Given the description of an element on the screen output the (x, y) to click on. 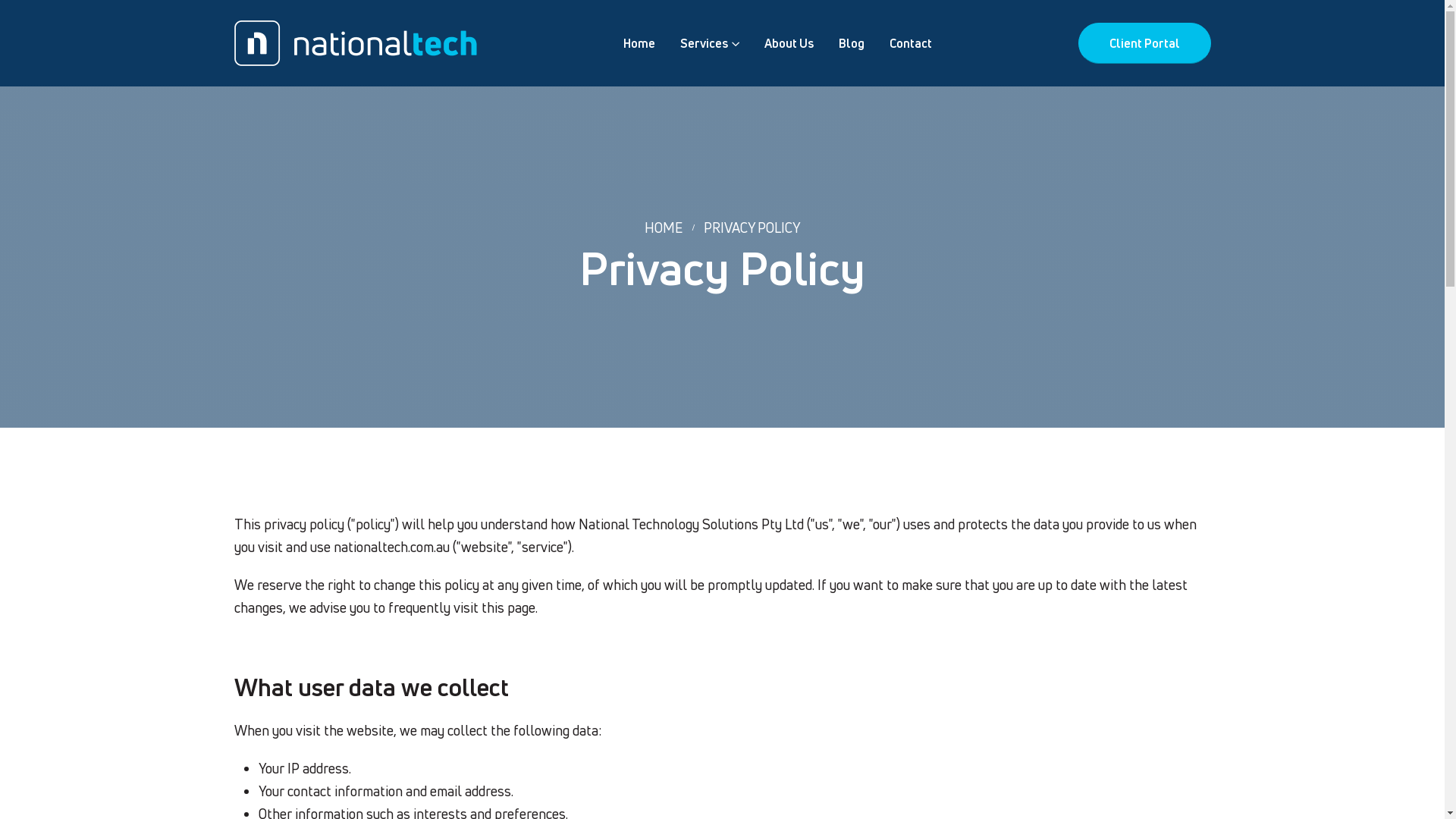
Home Element type: text (639, 43)
HOME Element type: text (663, 227)
Services Element type: text (708, 43)
Contact Element type: text (909, 43)
Client Portal Element type: text (1144, 42)
About Us Element type: text (788, 43)
National Tech - We keep IT simple Element type: hover (354, 42)
Blog Element type: text (851, 43)
